Given the description of an element on the screen output the (x, y) to click on. 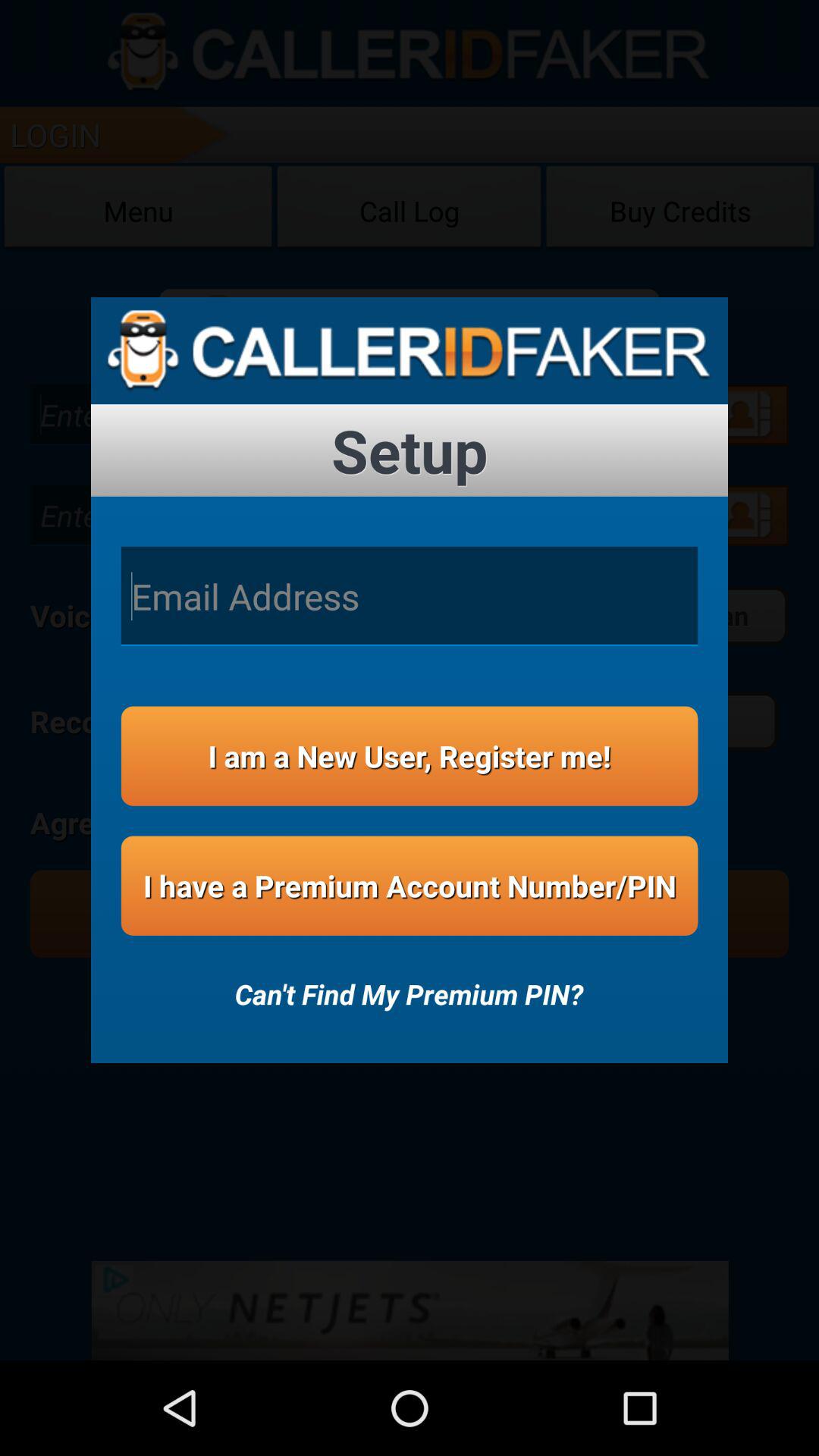
swipe until can t find (408, 983)
